Given the description of an element on the screen output the (x, y) to click on. 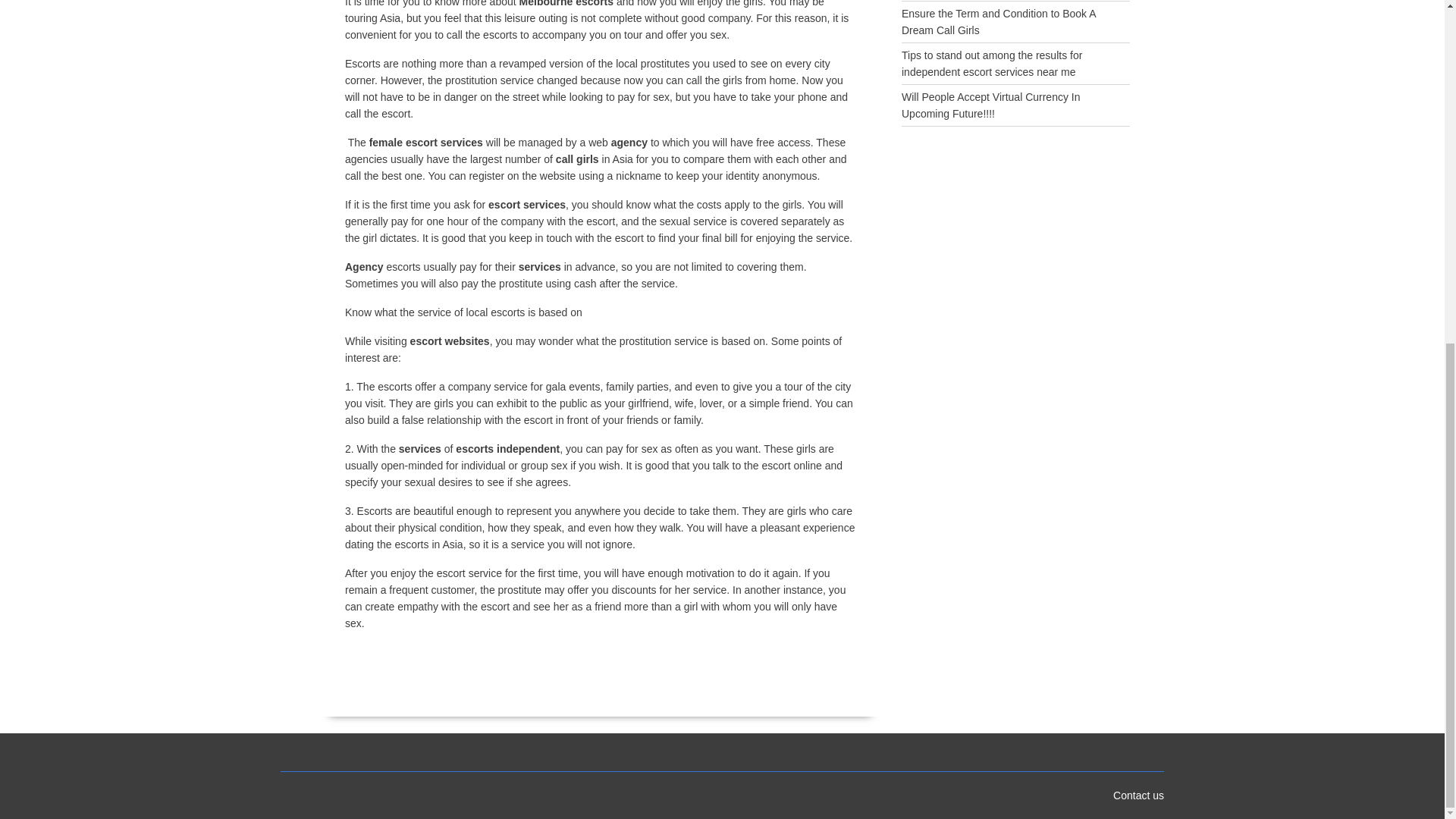
Contact us (1138, 795)
Melbourne escorts (565, 3)
Ensure the Term and Condition to Book A Dream Call Girls (998, 21)
Will People Accept Virtual Currency In Upcoming Future!!!! (990, 104)
